Given the description of an element on the screen output the (x, y) to click on. 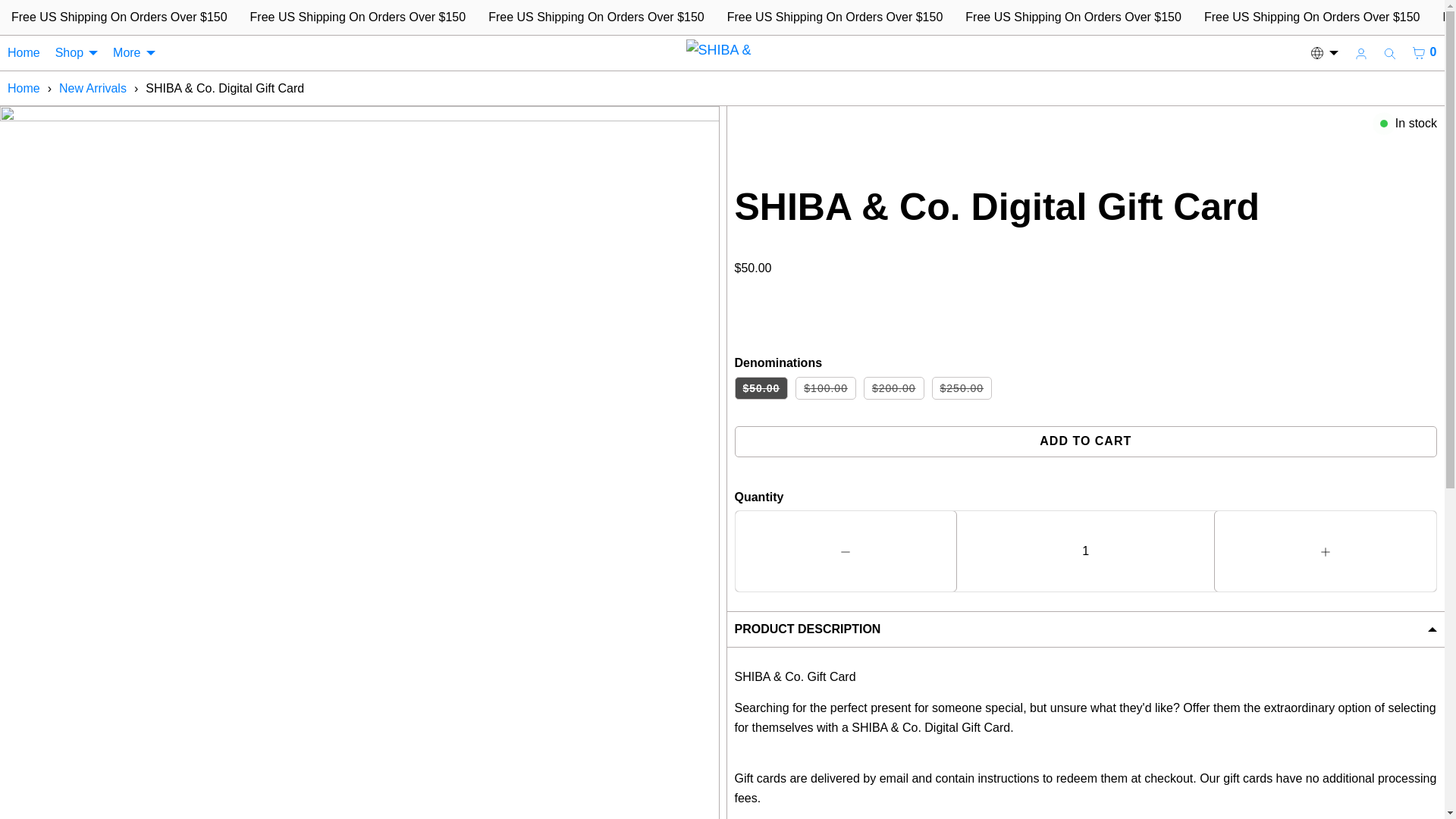
1 (1085, 551)
Home (24, 53)
Home (23, 88)
